Given the description of an element on the screen output the (x, y) to click on. 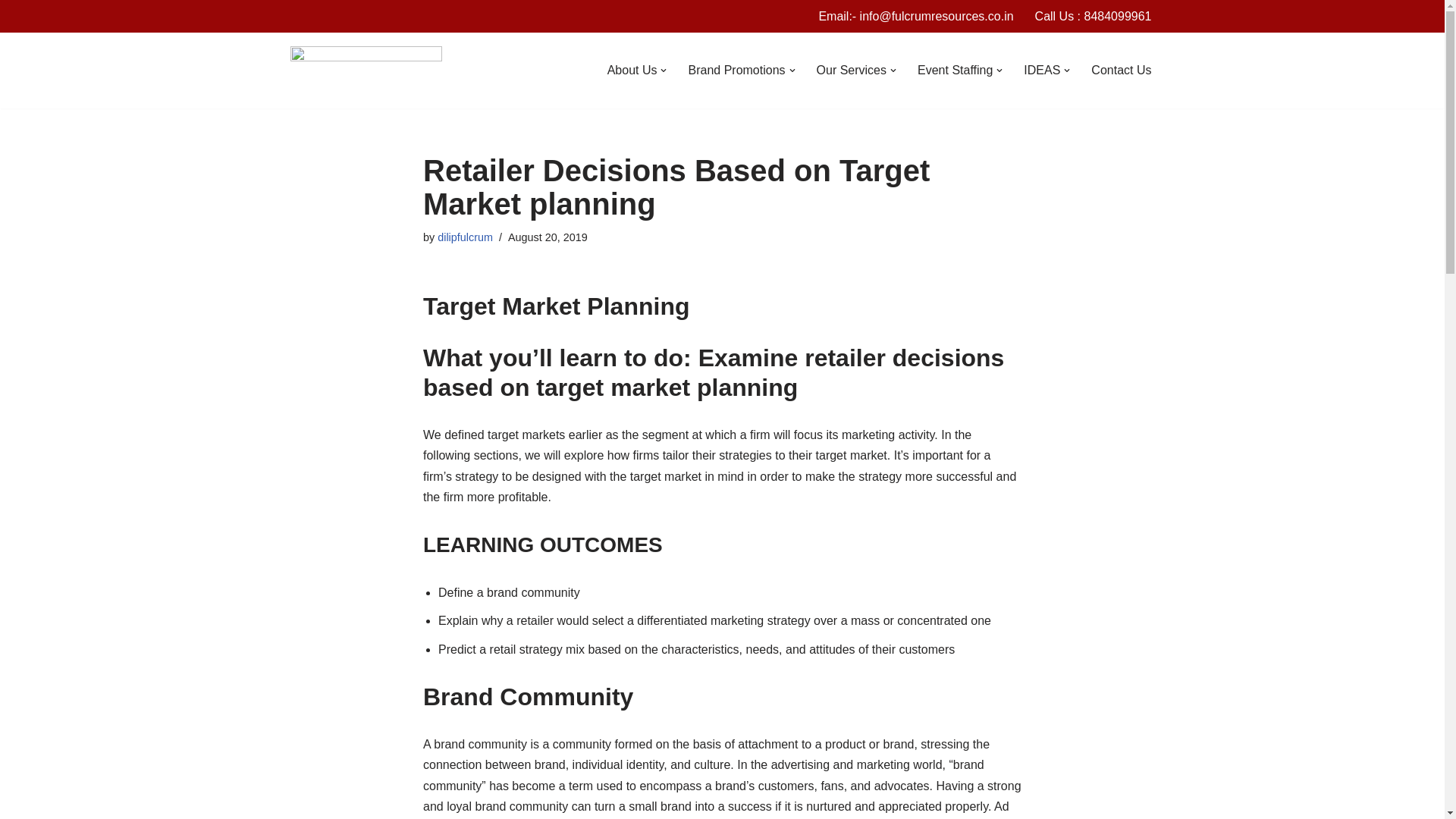
Skip to content (11, 31)
Brand Promotions (735, 69)
Posts by dilipfulcrum (465, 236)
Call Us : 8484099961 (1093, 15)
About Us (632, 69)
Our Services (851, 69)
